Given the description of an element on the screen output the (x, y) to click on. 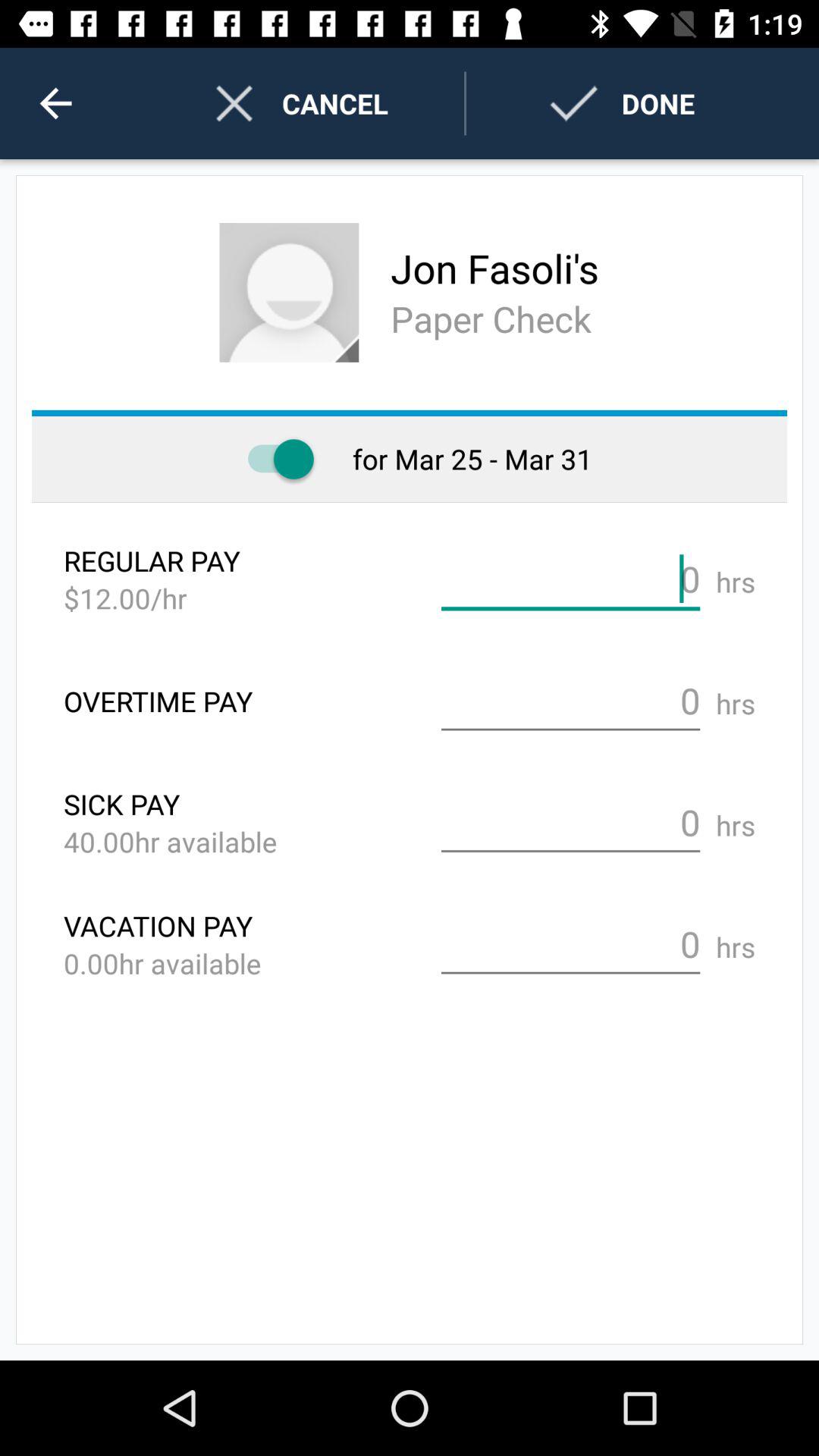
view person 's profile (288, 292)
